Given the description of an element on the screen output the (x, y) to click on. 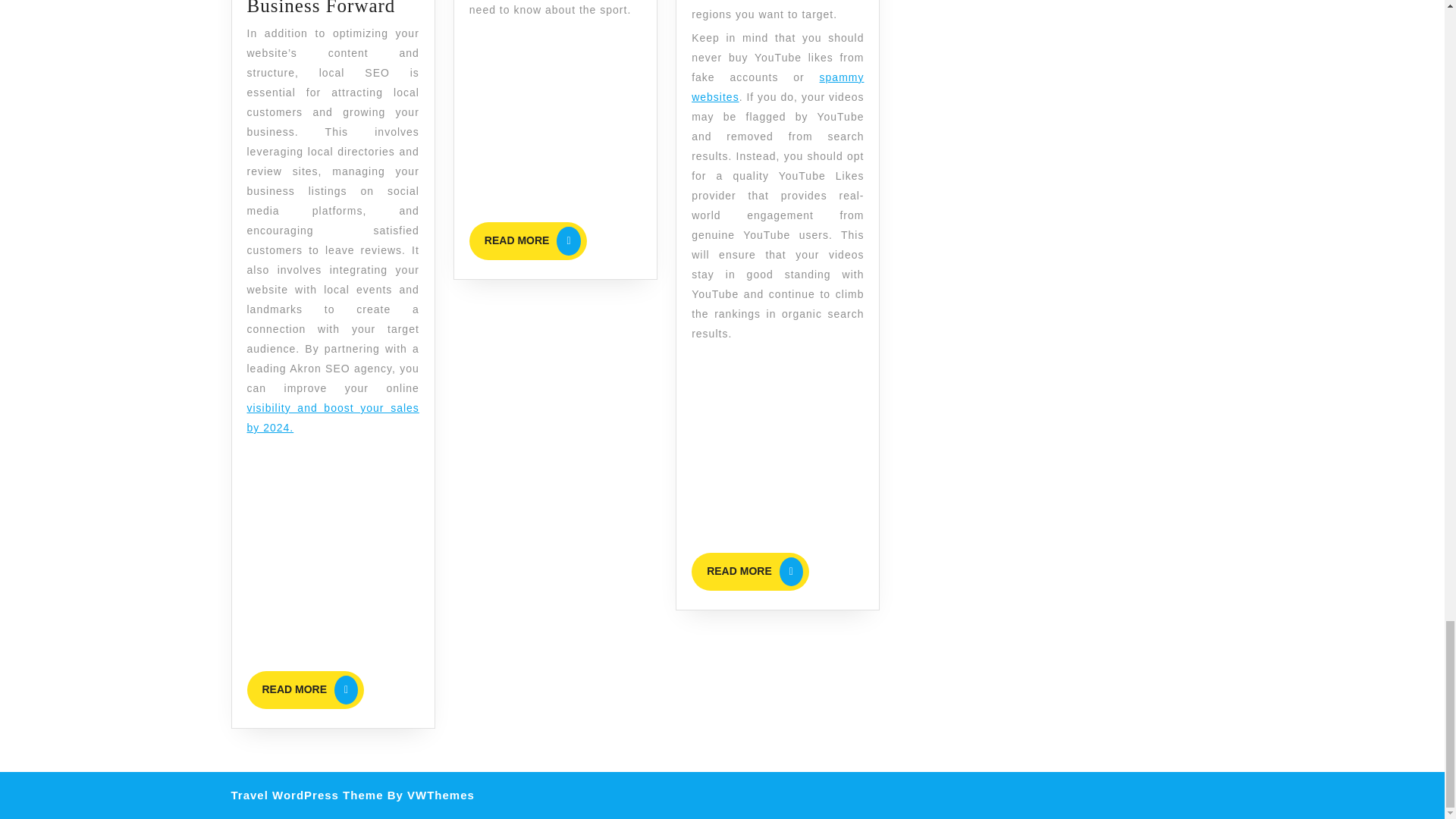
visibility and boost your sales by 2024. (750, 571)
spammy websites (333, 418)
